Given the description of an element on the screen output the (x, y) to click on. 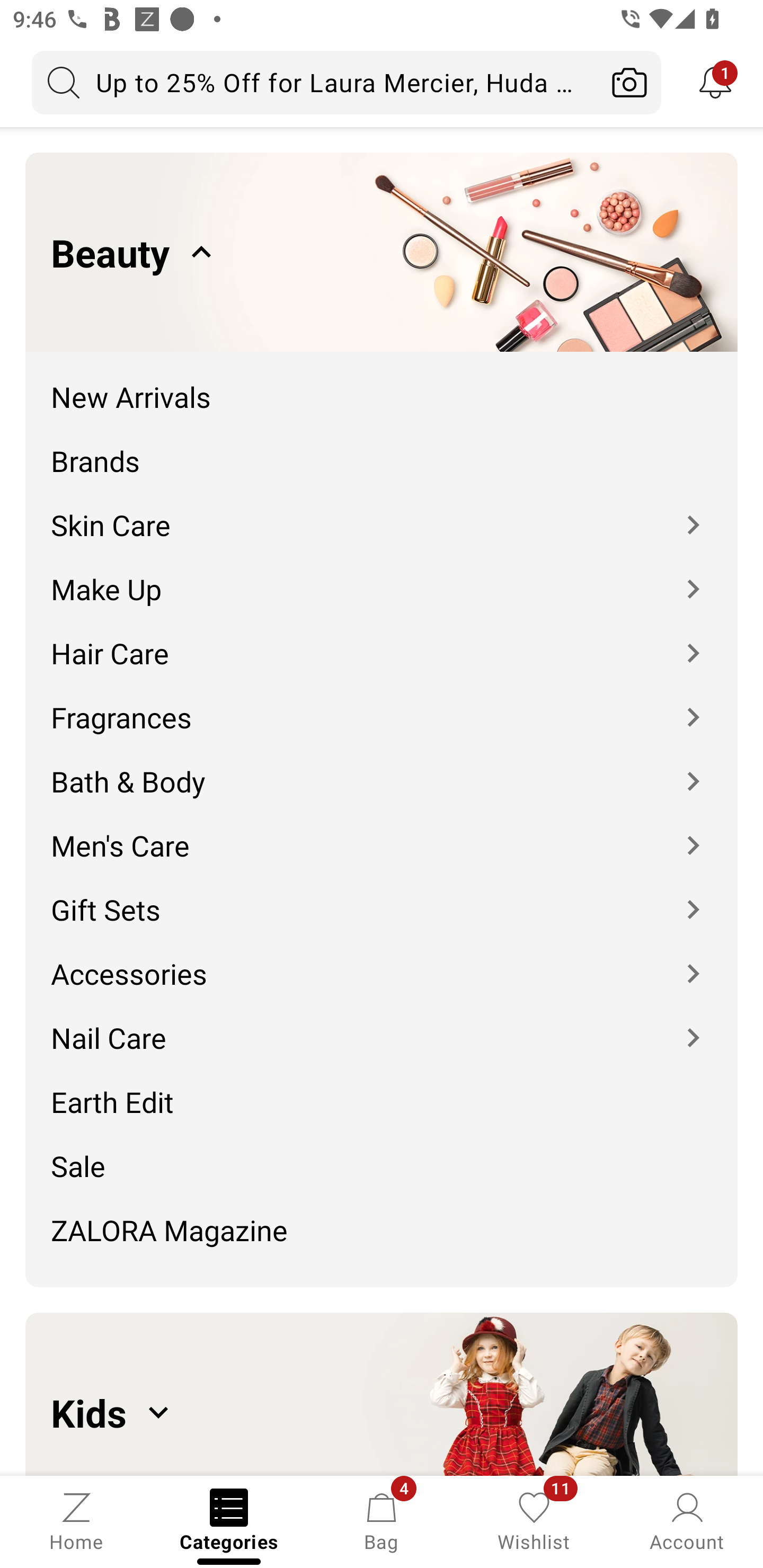
Beauty (381, 251)
New Arrivals (381, 383)
Brands (381, 447)
Skin Care (381, 511)
Make Up (381, 576)
Hair Care (381, 640)
Fragrances (381, 704)
Bath & Body (381, 767)
Men's Care (381, 831)
Gift Sets (381, 895)
Accessories (381, 960)
Nail Care (381, 1024)
Earth Edit (381, 1088)
Sale (381, 1153)
ZALORA Magazine (381, 1236)
Kids (381, 1393)
Home (76, 1519)
Bag, 4 new notifications Bag (381, 1519)
Wishlist, 11 new notifications Wishlist (533, 1519)
Account (686, 1519)
